Given the description of an element on the screen output the (x, y) to click on. 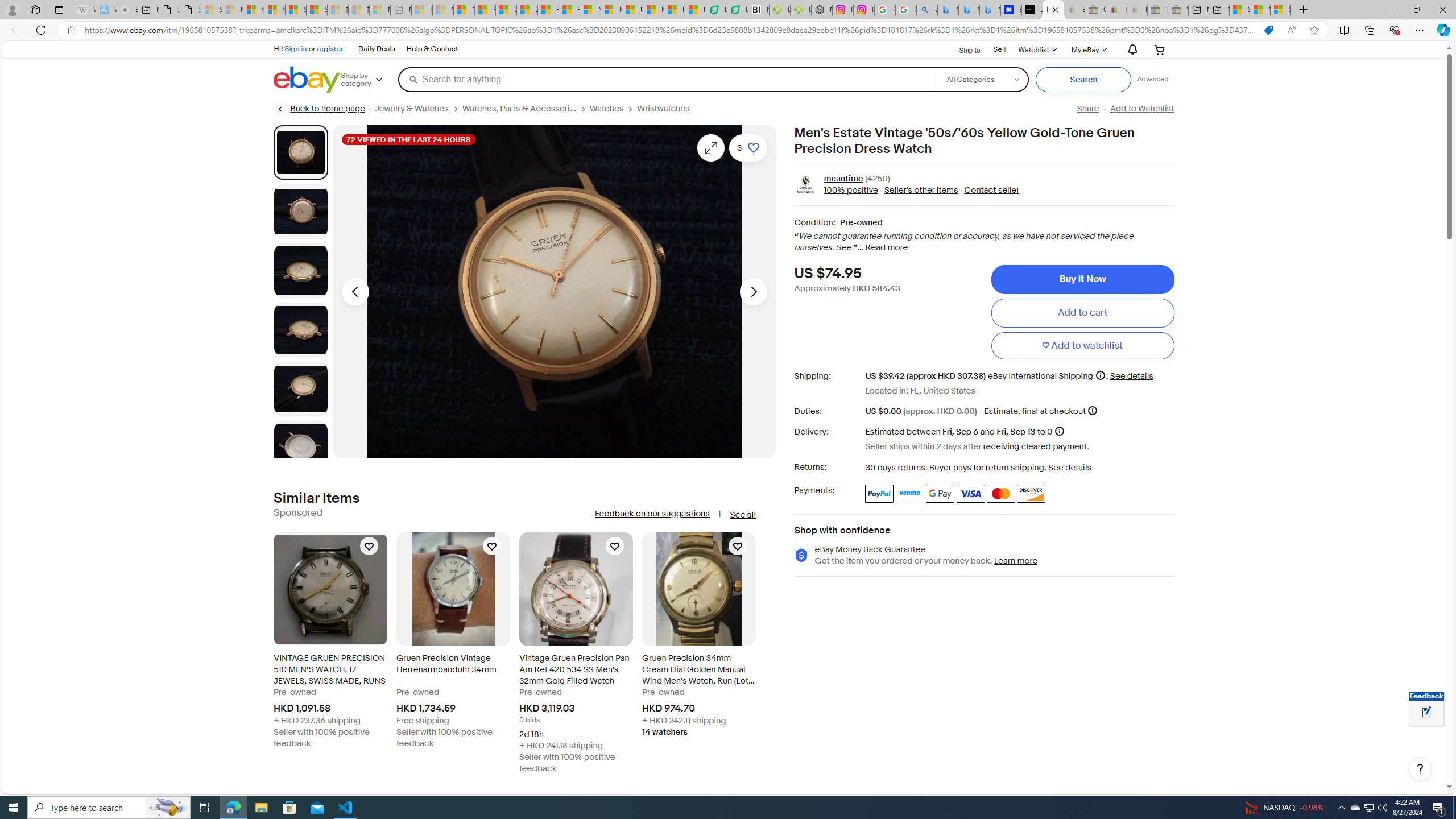
Marine life - MSN - Sleeping (443, 9)
Drinking tea every day is proven to delay biological aging (527, 9)
Picture 1 of 8 (300, 152)
Ship to (962, 48)
receiving cleared payment (1034, 446)
Food and Drink - MSN (485, 9)
You have the best price! Shopping in Microsoft Edge (1268, 29)
Master Card (999, 493)
Ship to (962, 50)
Shanghai, China hourly forecast | Microsoft Weather (1239, 9)
Picture 5 of 8 (300, 388)
Visa (970, 493)
WatchlistExpand Watch List (1036, 49)
